Given the description of an element on the screen output the (x, y) to click on. 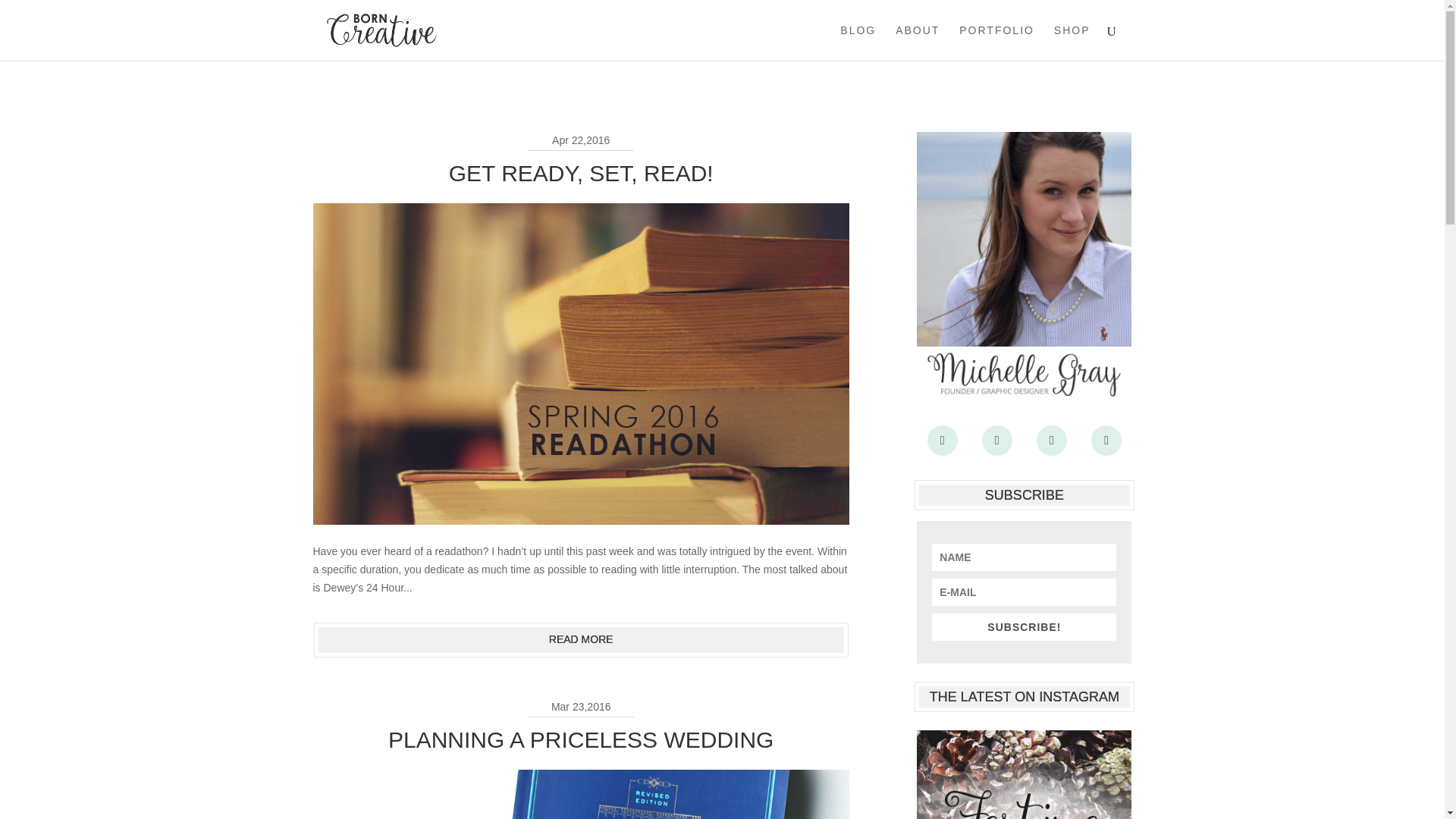
ABOUT (917, 42)
SUBSCRIBE! (1023, 626)
SHOP (1072, 42)
PORTFOLIO (996, 42)
BLOG (858, 42)
READ MORE (581, 639)
